Given the description of an element on the screen output the (x, y) to click on. 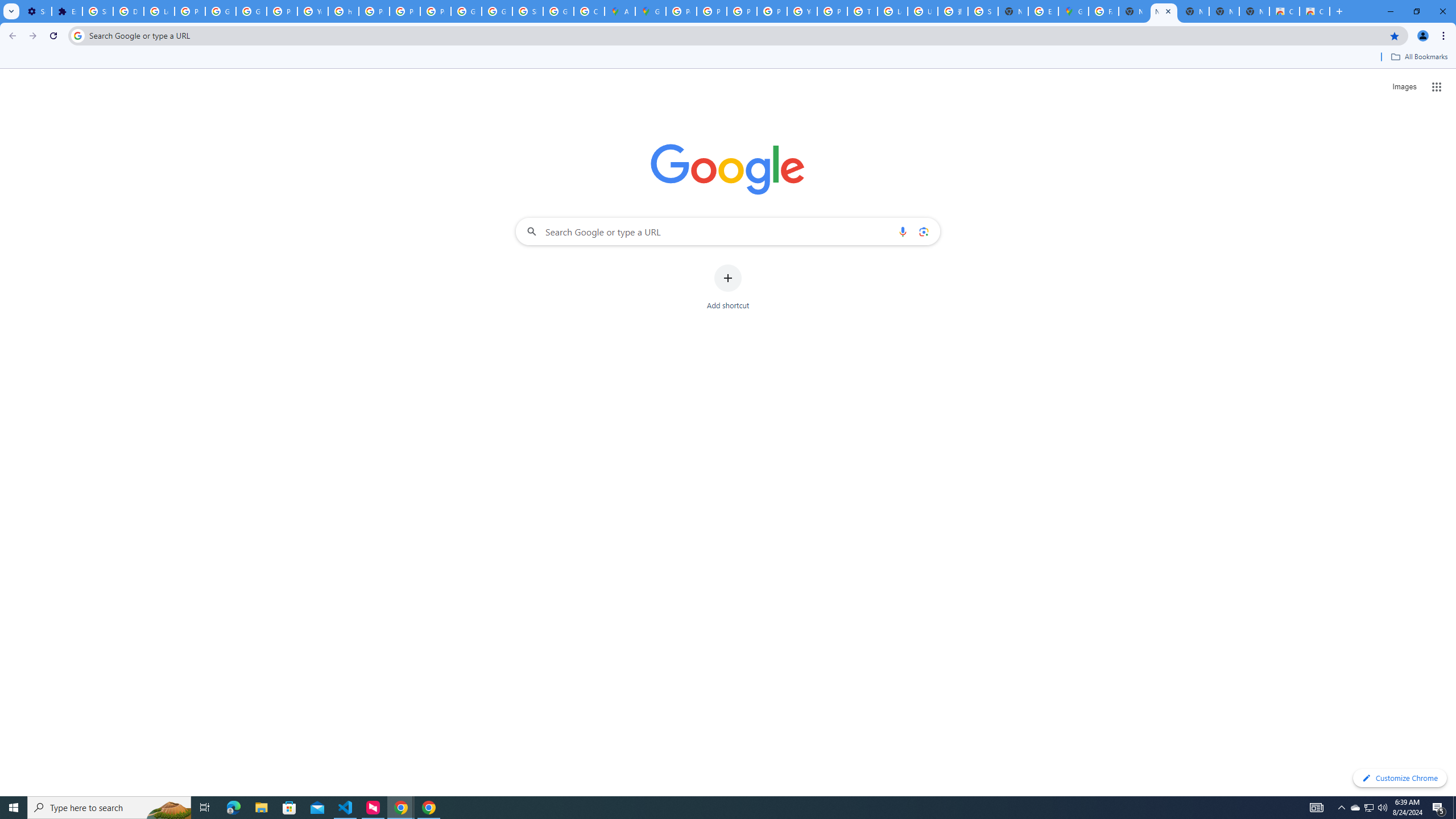
Search by image (922, 230)
Create your Google Account (589, 11)
Classic Blue - Chrome Web Store (1314, 11)
Learn how to find your photos - Google Photos Help (158, 11)
Google Account Help (251, 11)
Bookmarks (728, 58)
